Given the description of an element on the screen output the (x, y) to click on. 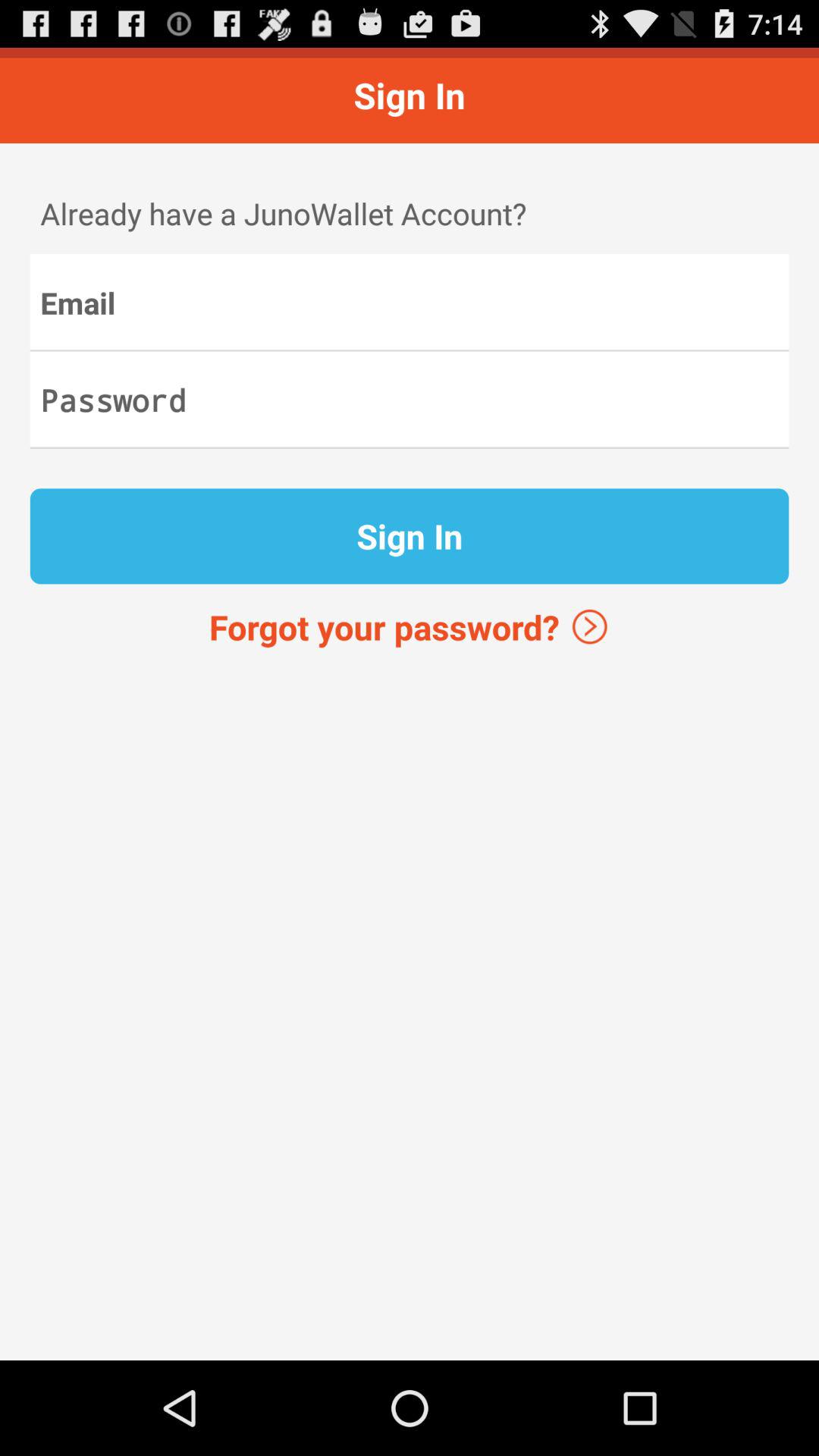
select item below the sign in (409, 627)
